Given the description of an element on the screen output the (x, y) to click on. 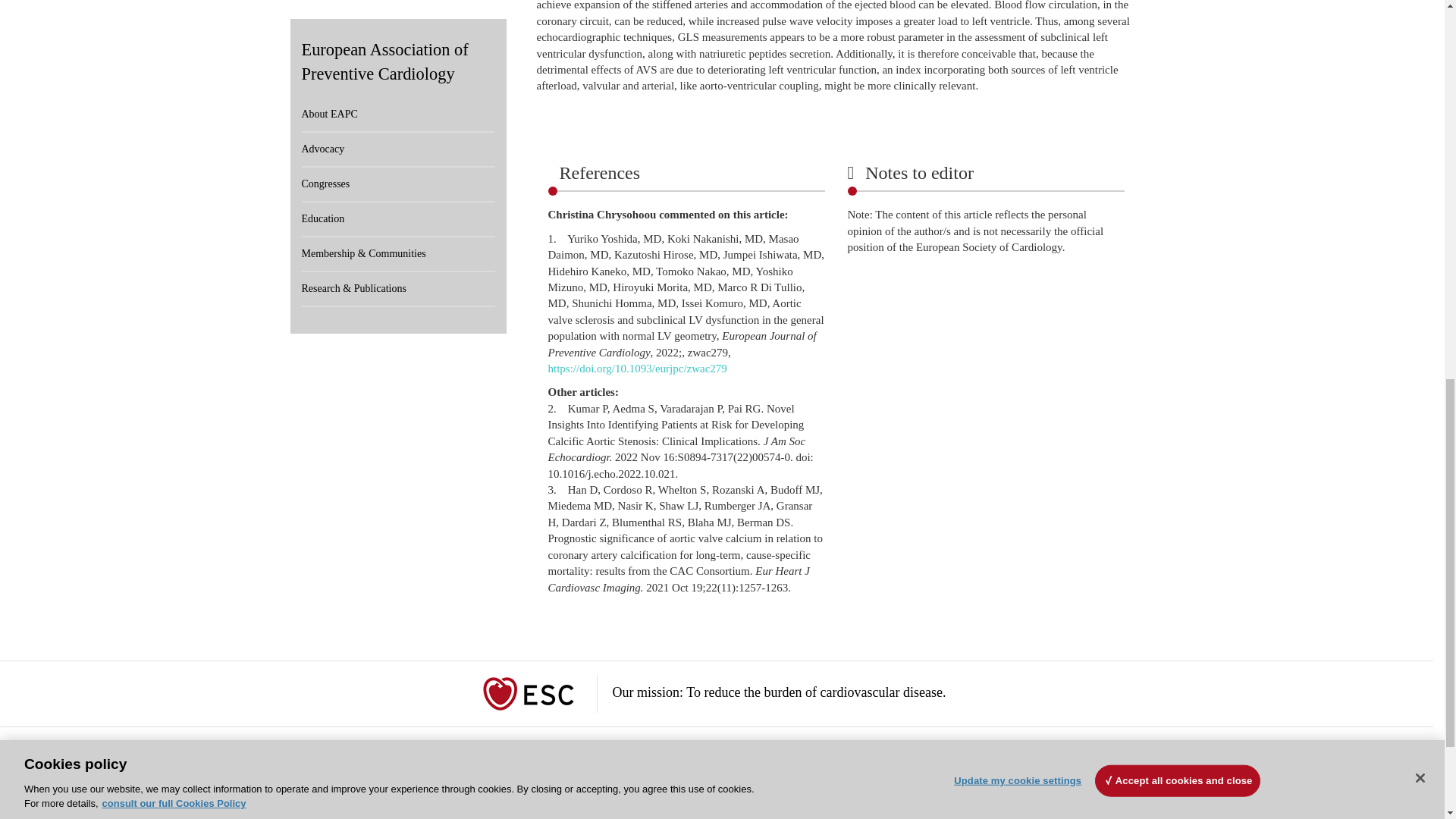
X (979, 803)
LinkedIn (967, 803)
You Tube (991, 803)
Facebook (954, 803)
